Given the description of an element on the screen output the (x, y) to click on. 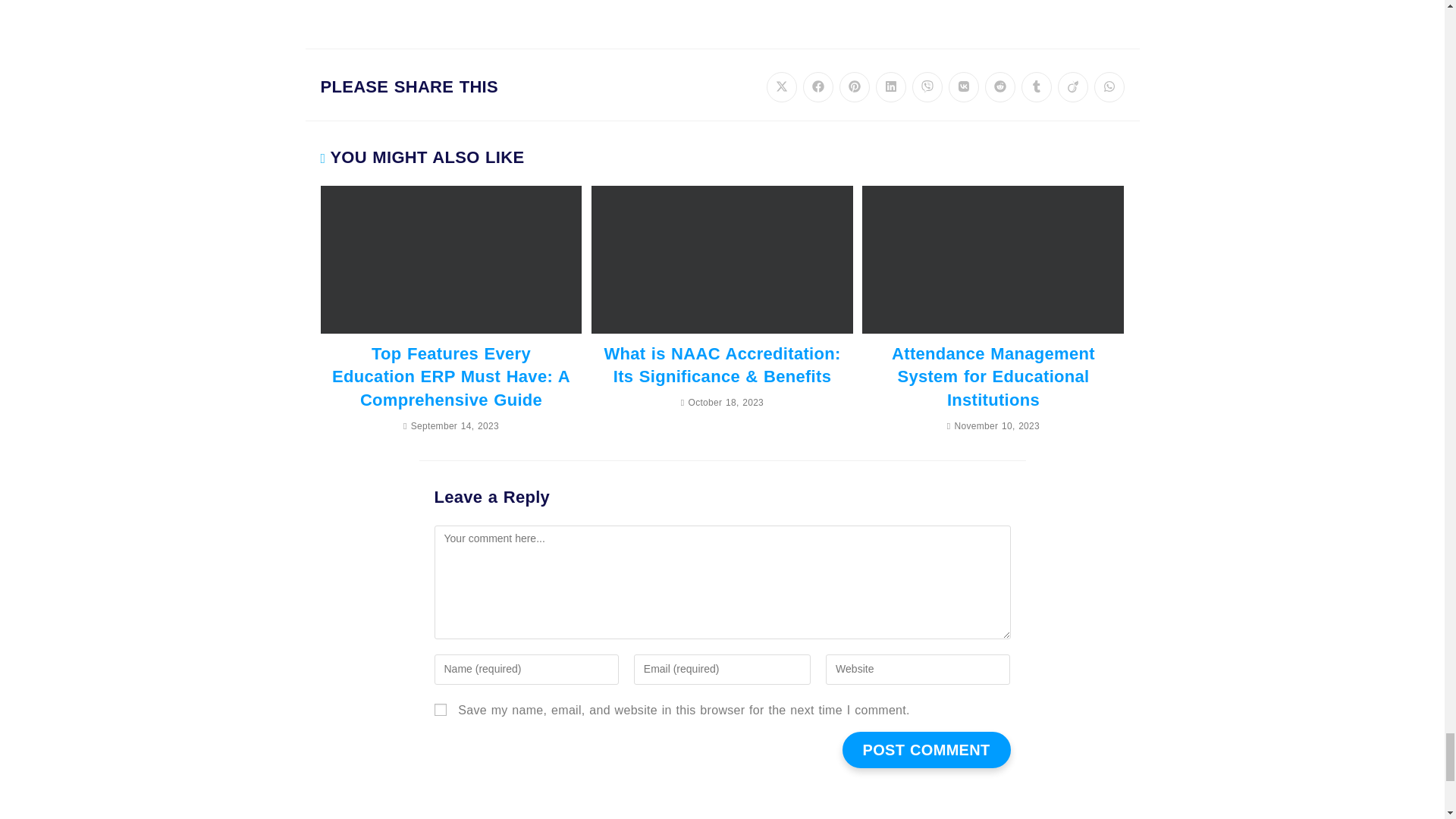
Attendance Management System for Educational Institutions 4 (992, 258)
yes (439, 709)
Post Comment (926, 750)
